Given the description of an element on the screen output the (x, y) to click on. 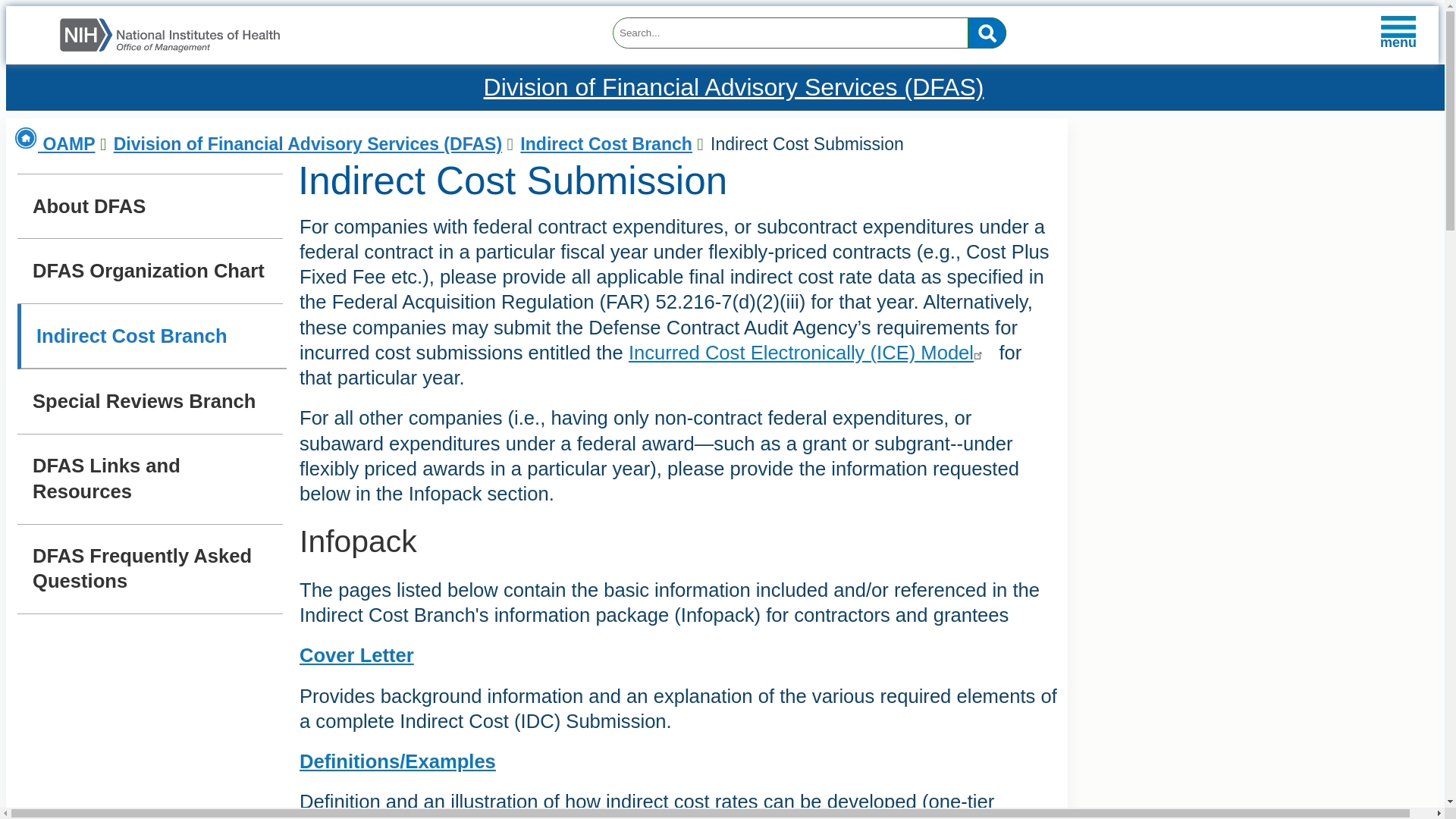
Click to see the cover letter (356, 654)
Toggle navigation (39, 41)
Home (169, 51)
menu (1397, 32)
Enter the terms you wish to search for. (809, 32)
Go (987, 32)
Go (987, 32)
